Given the description of an element on the screen output the (x, y) to click on. 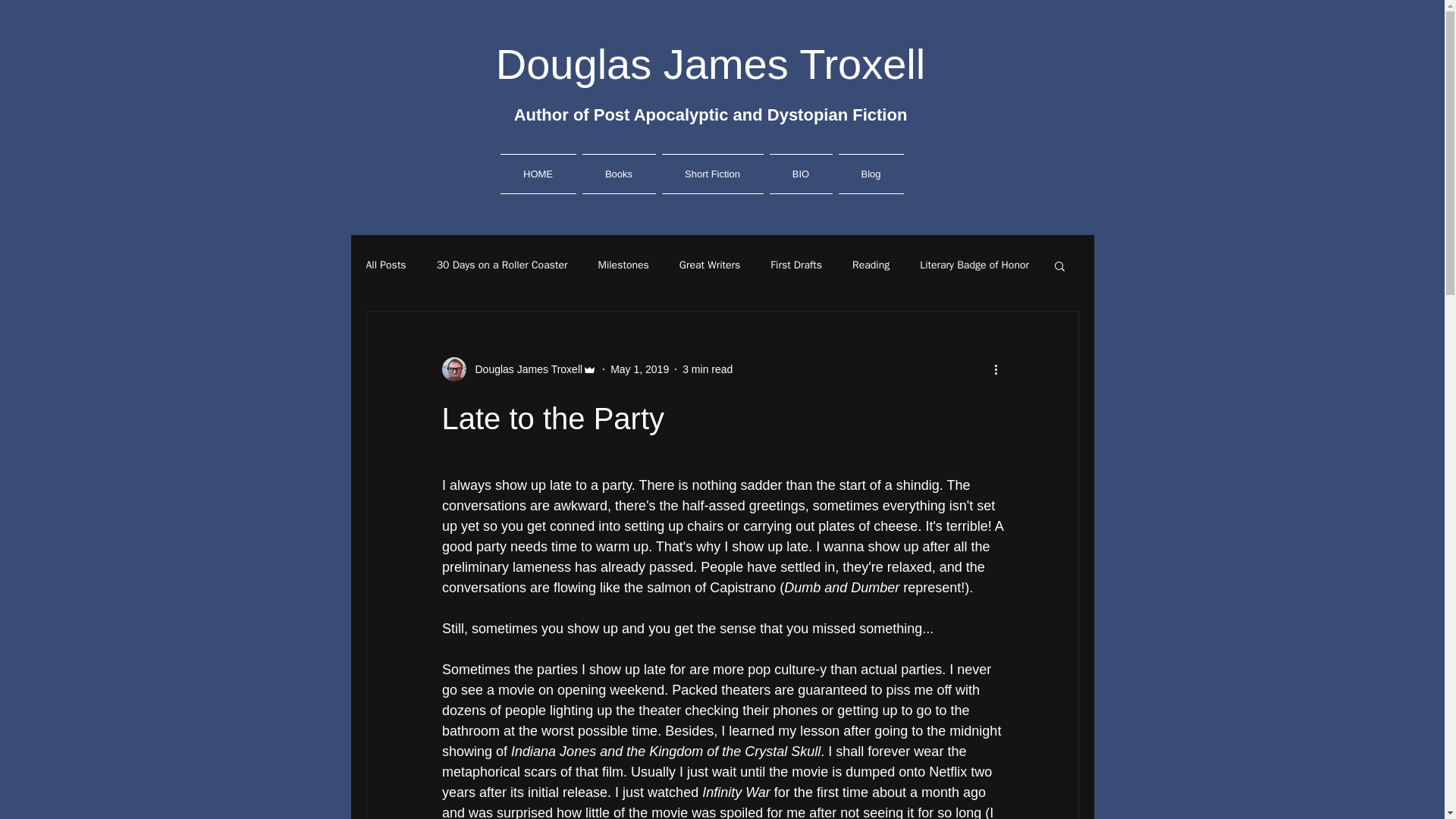
All Posts (385, 264)
Reading (870, 264)
Literary Badge of Honor (974, 264)
Short Fiction (711, 173)
Blog (869, 173)
Great Writers (710, 264)
30 Days on a Roller Coaster (501, 264)
First Drafts (796, 264)
HOME (539, 173)
BIO (799, 173)
